Given the description of an element on the screen output the (x, y) to click on. 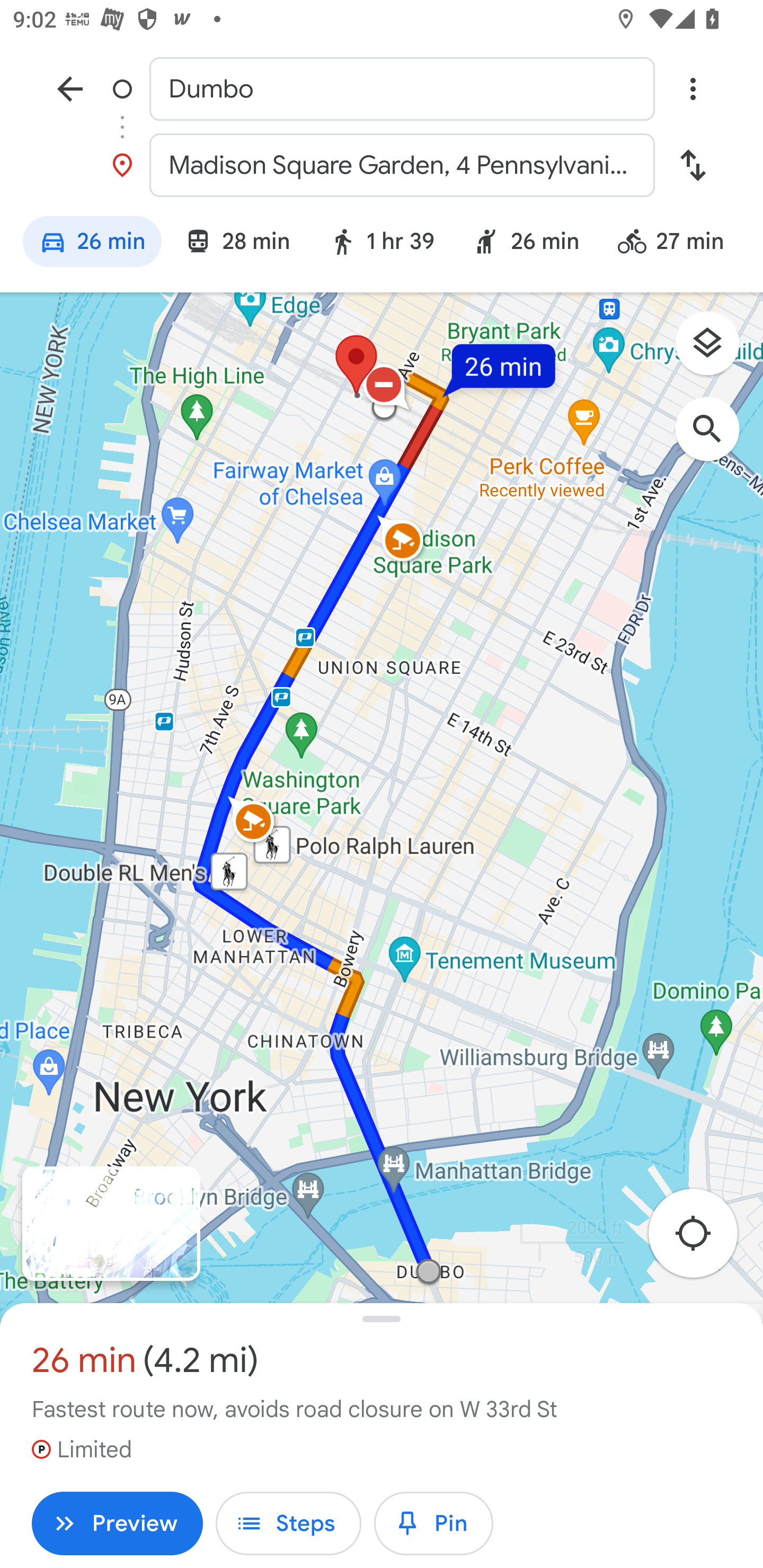
Navigate up (70, 88)
Dumbo Start location, Dumbo (381, 88)
Overflow menu (692, 88)
Swap start and destination (692, 165)
Transit mode: 28 min 28 min (236, 244)
Walking mode: 1 hr 39 1 hr 39 (381, 244)
Ride service: 26 min 26 min (525, 244)
Bicycling mode: 27 min 27 min (678, 244)
Layers (716, 349)
Search along route (716, 438)
Open Immersive View for routes (110, 1223)
Re-center map to your location (702, 1238)
Steps Steps Steps (288, 1522)
Pin trip Pin Pin trip (433, 1522)
